Given the description of an element on the screen output the (x, y) to click on. 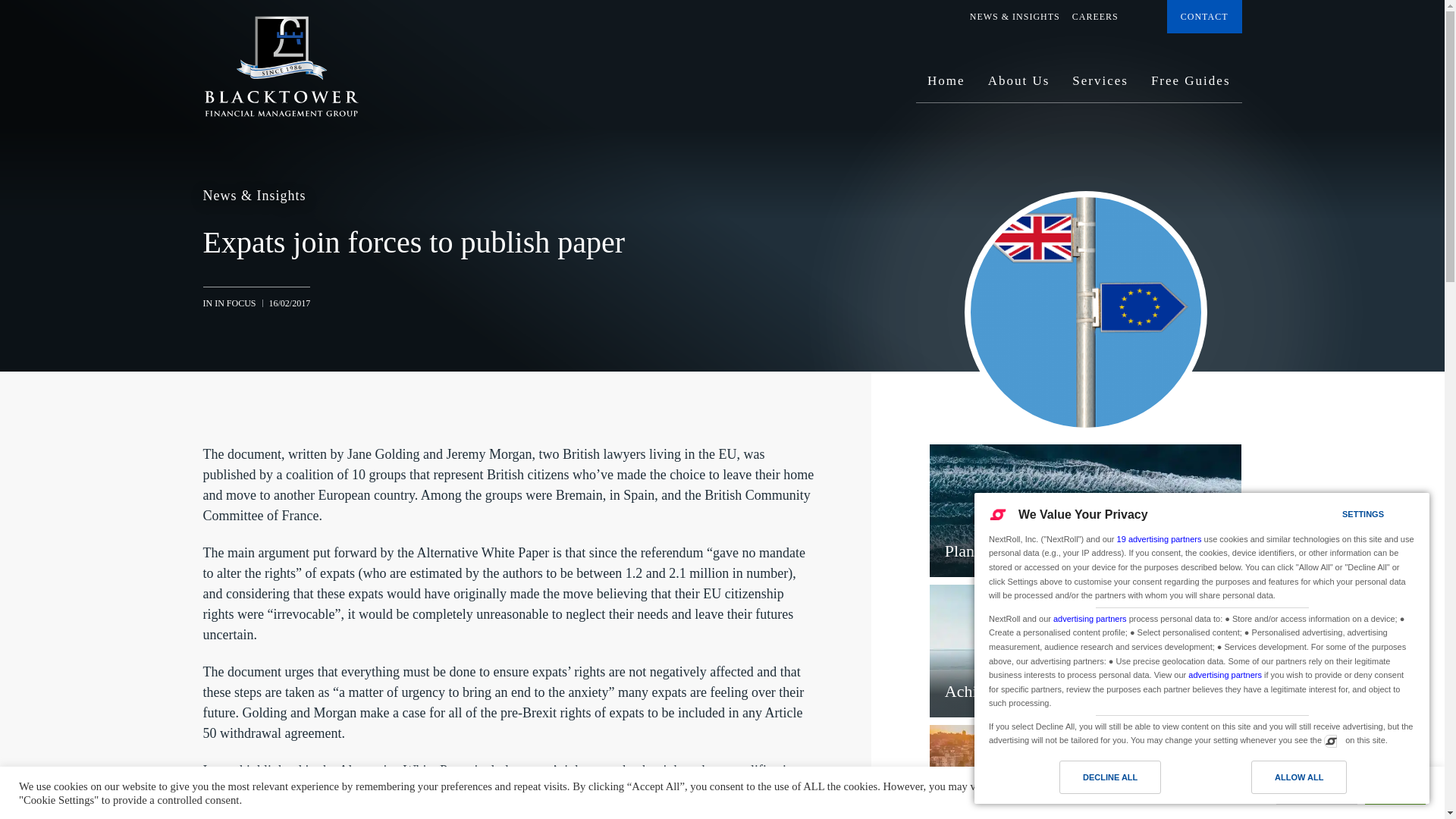
CAREERS (1094, 16)
Free Guides (1190, 87)
Manage consent preferences (1330, 740)
About Us (1018, 87)
Services (1100, 87)
CONTACT (1204, 16)
Home (945, 87)
